Given the description of an element on the screen output the (x, y) to click on. 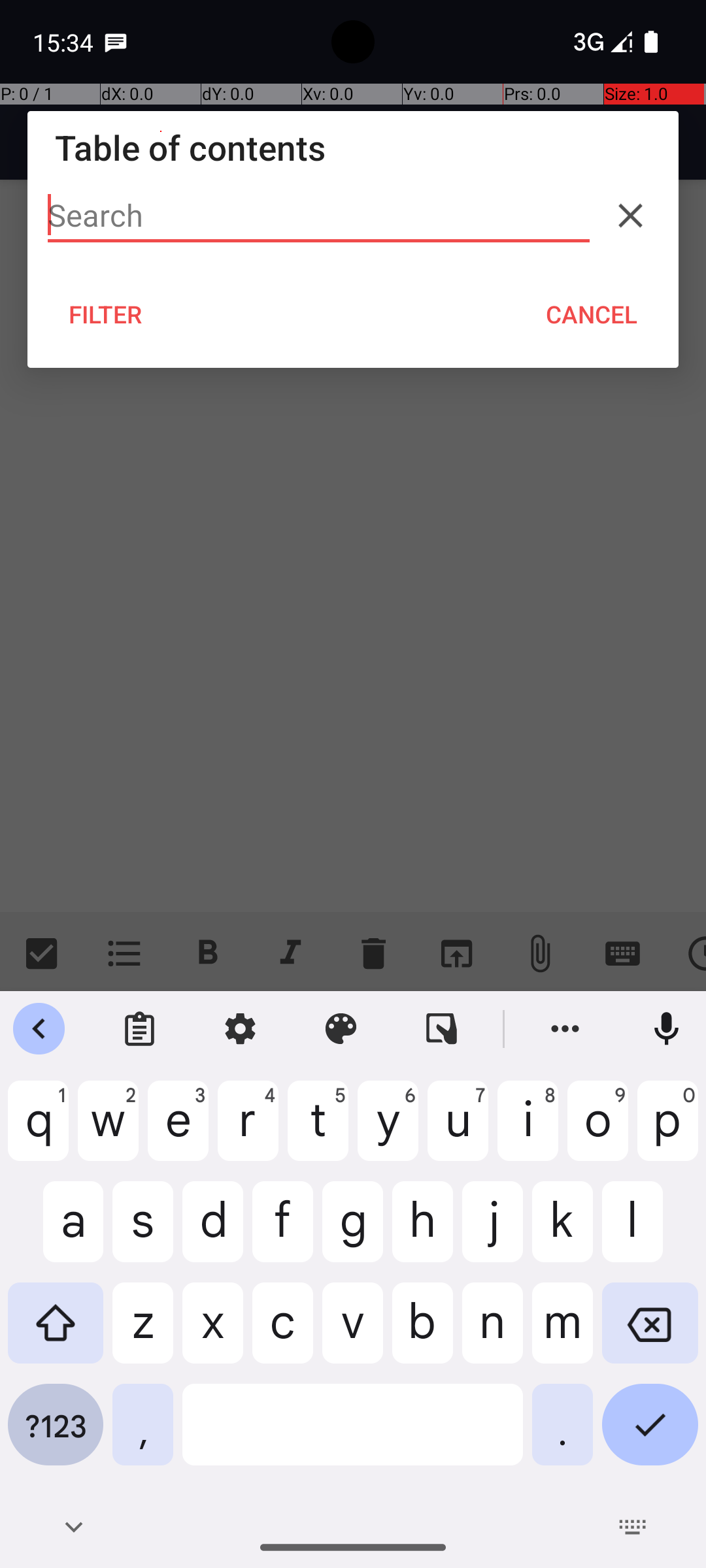
FILTER Element type: android.widget.Button (105, 313)
